Given the description of an element on the screen output the (x, y) to click on. 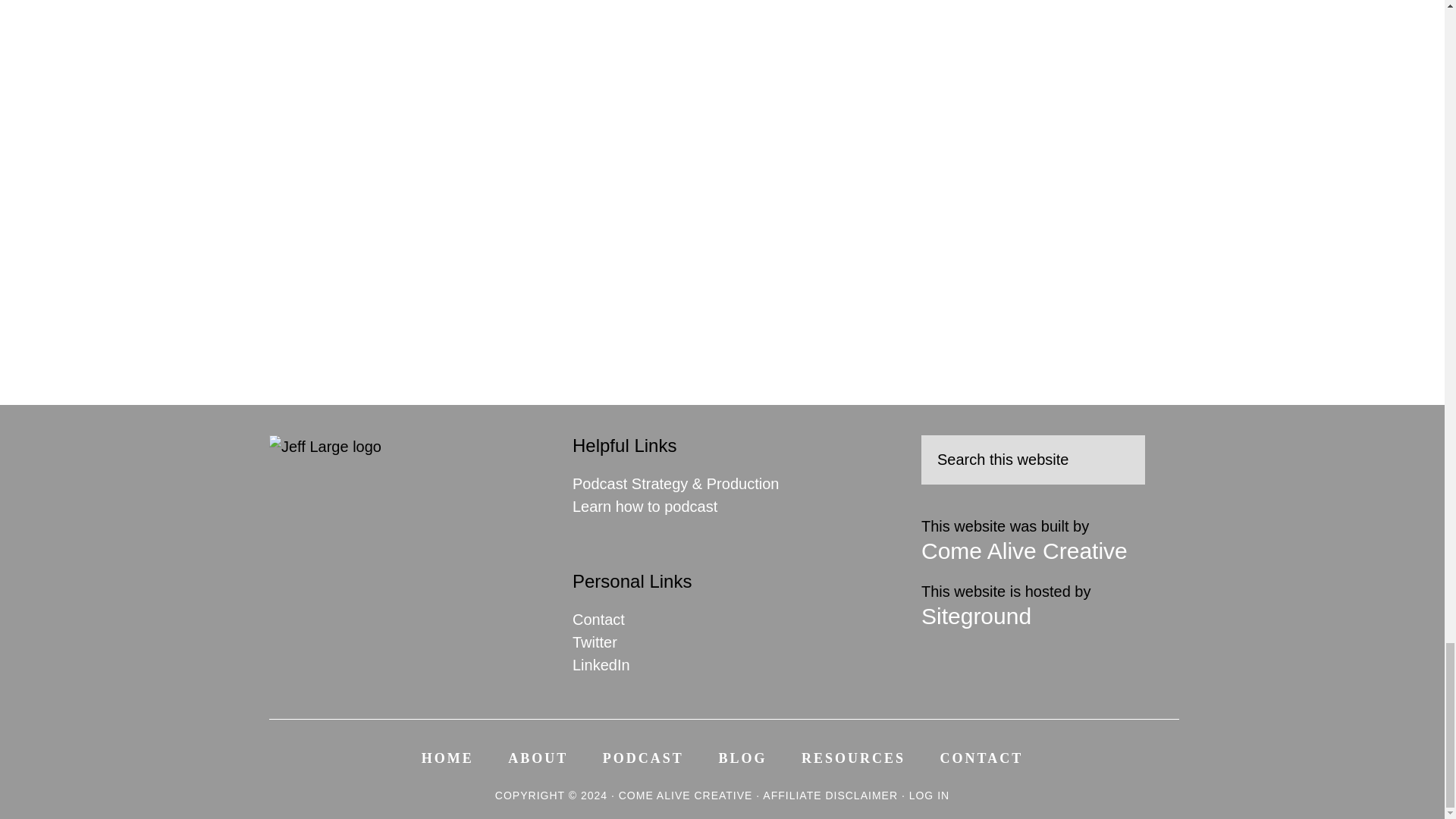
Learn how to podcast (644, 506)
Contact (598, 619)
